Given the description of an element on the screen output the (x, y) to click on. 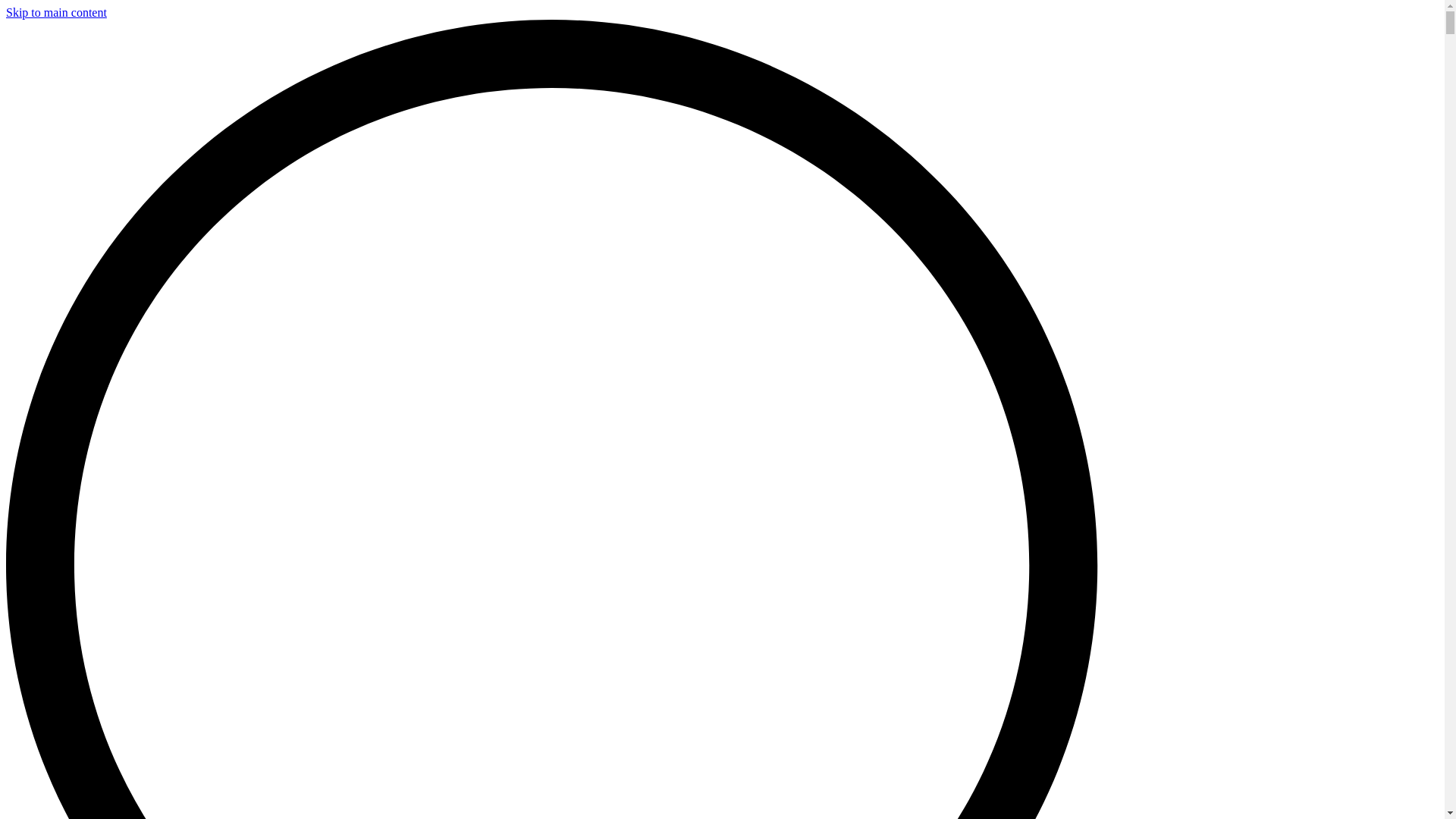
Skip to main content (55, 11)
